Given the description of an element on the screen output the (x, y) to click on. 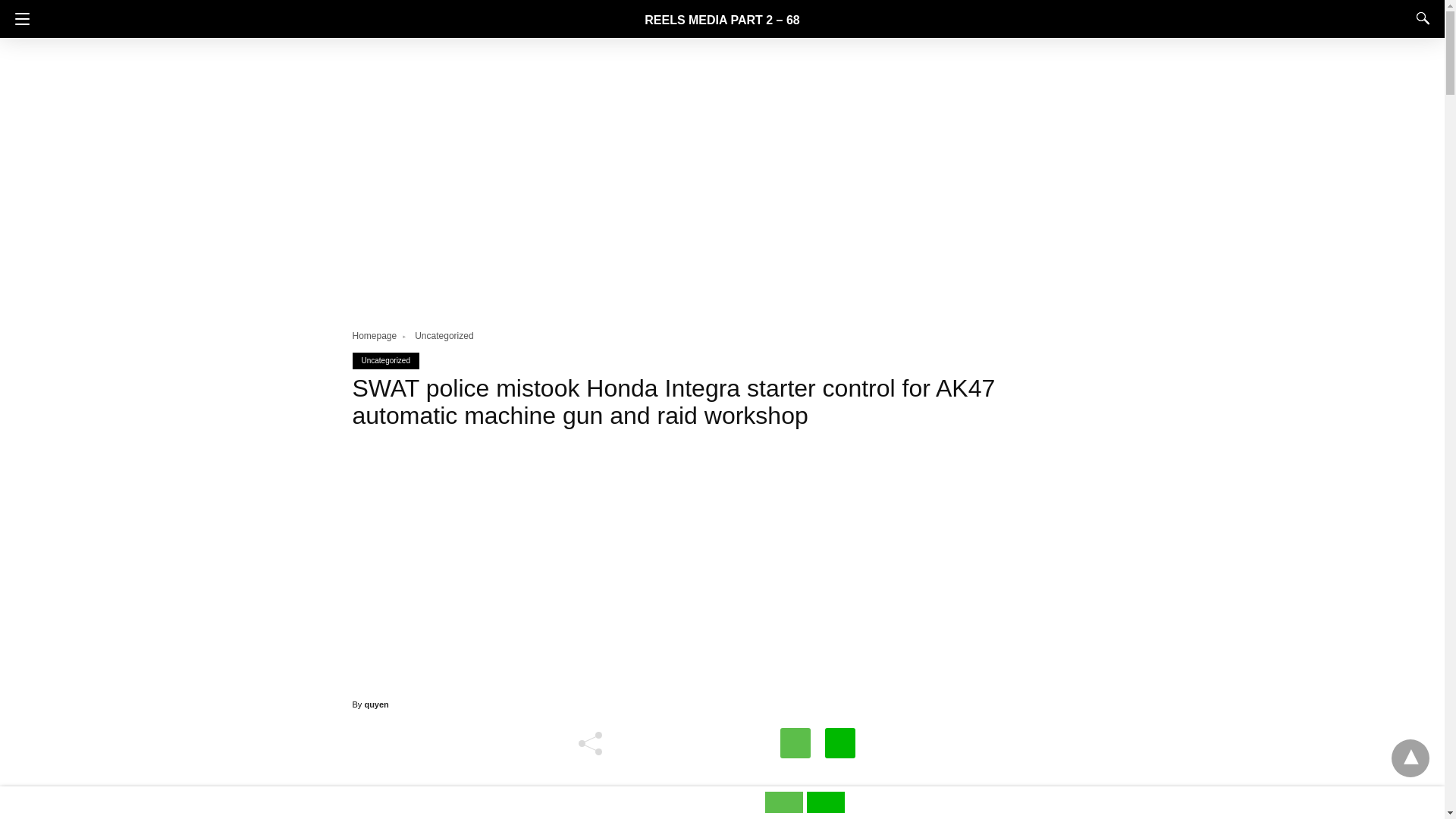
Uncategorized (443, 335)
Homepage (381, 335)
back to top (1410, 758)
Uncategorized (443, 335)
line share (825, 808)
whatsapp share (785, 808)
quyen (376, 704)
Homepage (381, 335)
Uncategorized (384, 359)
